Given the description of an element on the screen output the (x, y) to click on. 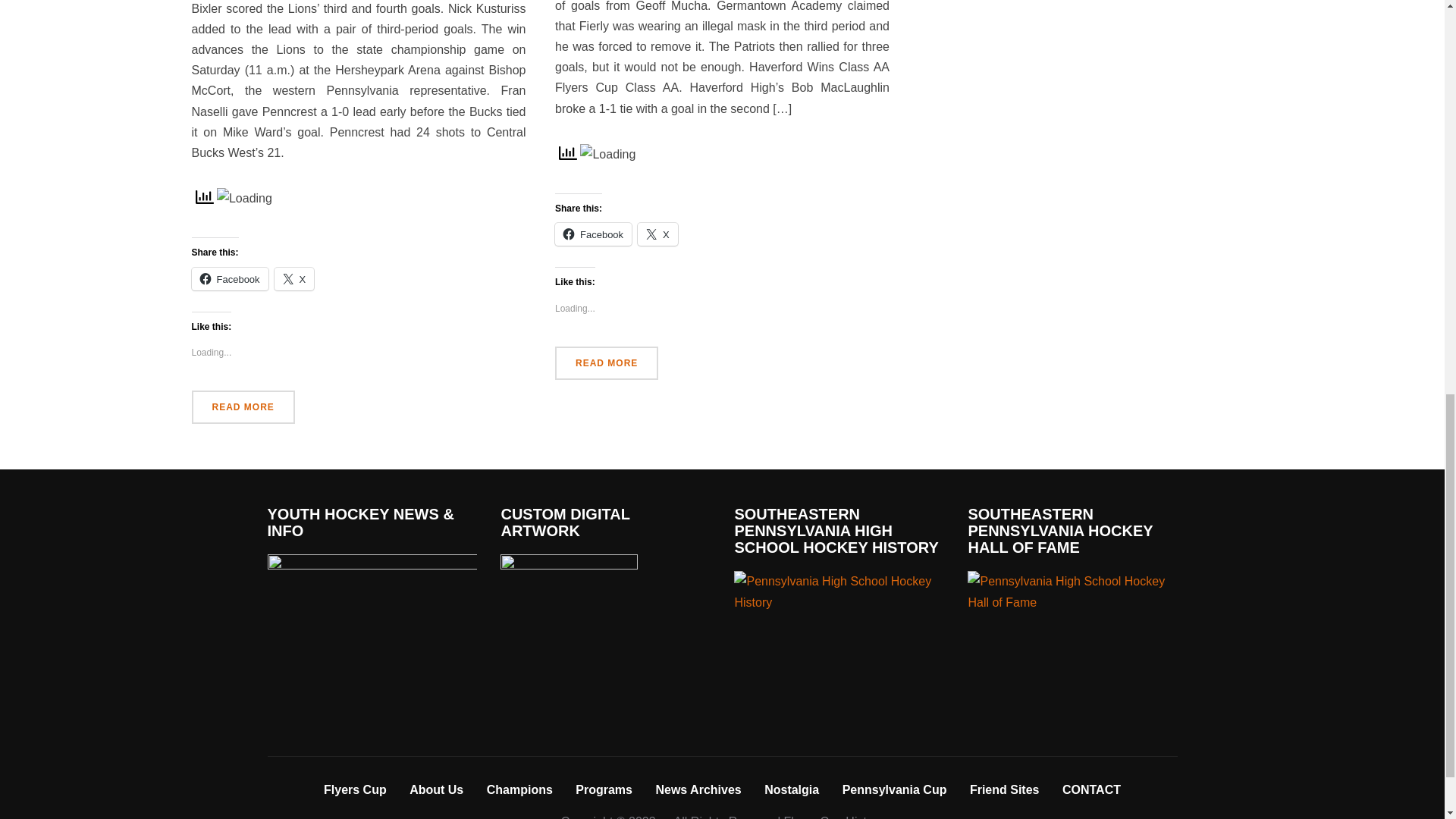
Click to share on Facebook (228, 278)
Click to share on X (294, 278)
Click to share on Facebook (592, 233)
Pennsylvania High School Hockey History (838, 590)
southeasternpahshockey (838, 581)
Pennsylvania High School Hockey Hall of Fame (1072, 590)
jporubskidesign (568, 563)
youthhockeyinfo (371, 563)
Click to share on X (657, 233)
